Given the description of an element on the screen output the (x, y) to click on. 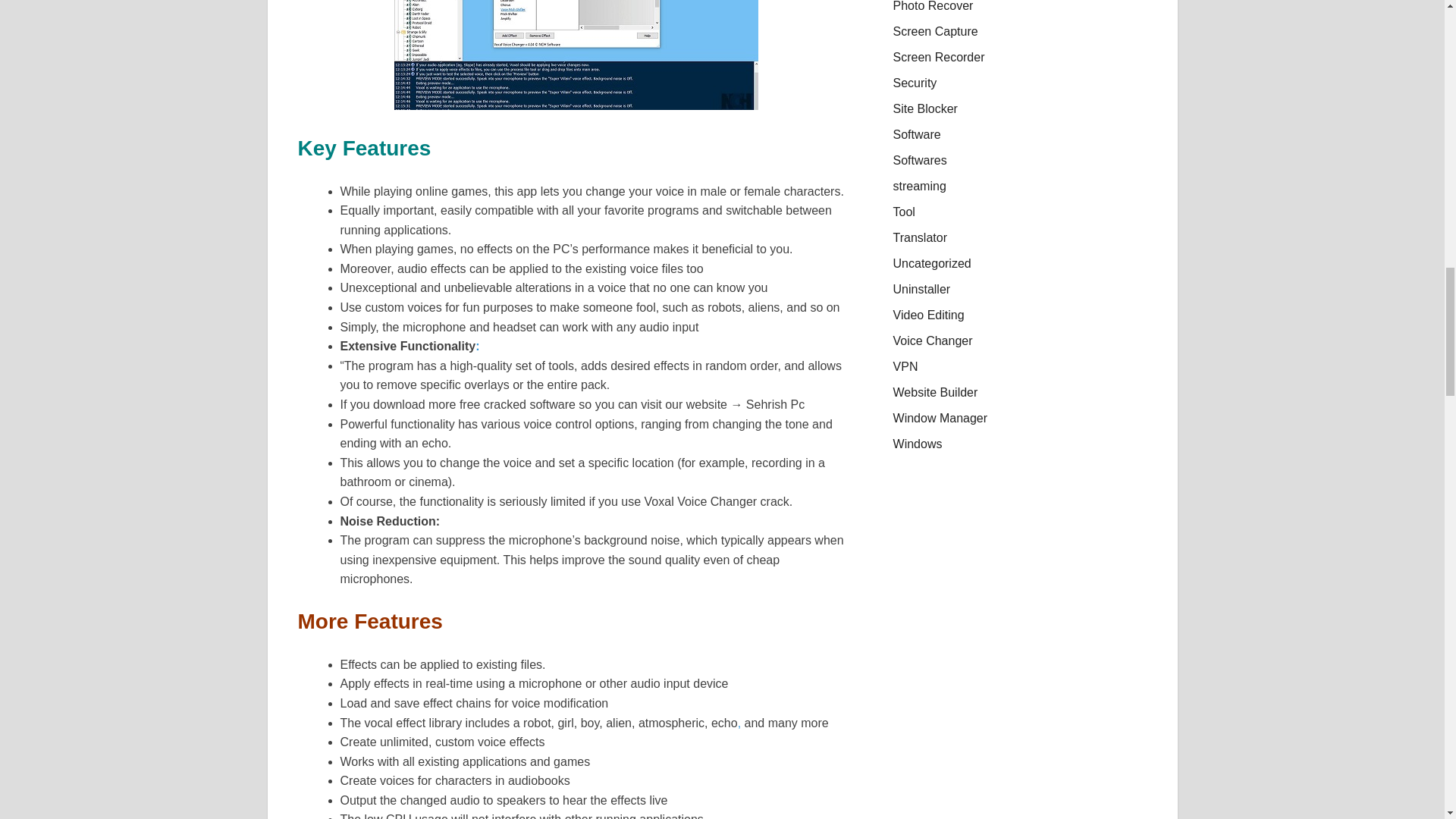
, (739, 722)
: (477, 345)
